Given the description of an element on the screen output the (x, y) to click on. 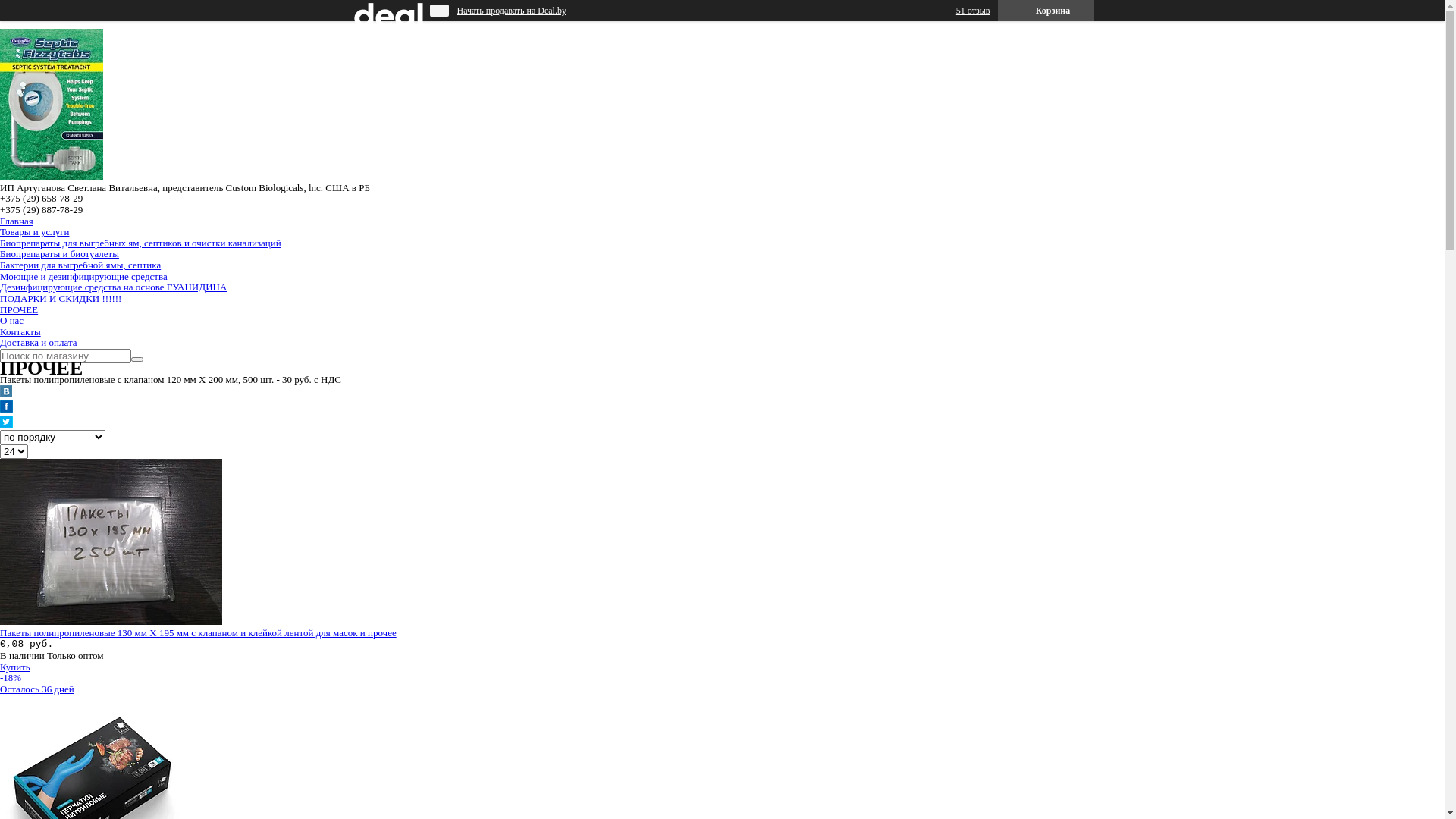
facebook Element type: hover (6, 408)
twitter Element type: hover (6, 423)
